Given the description of an element on the screen output the (x, y) to click on. 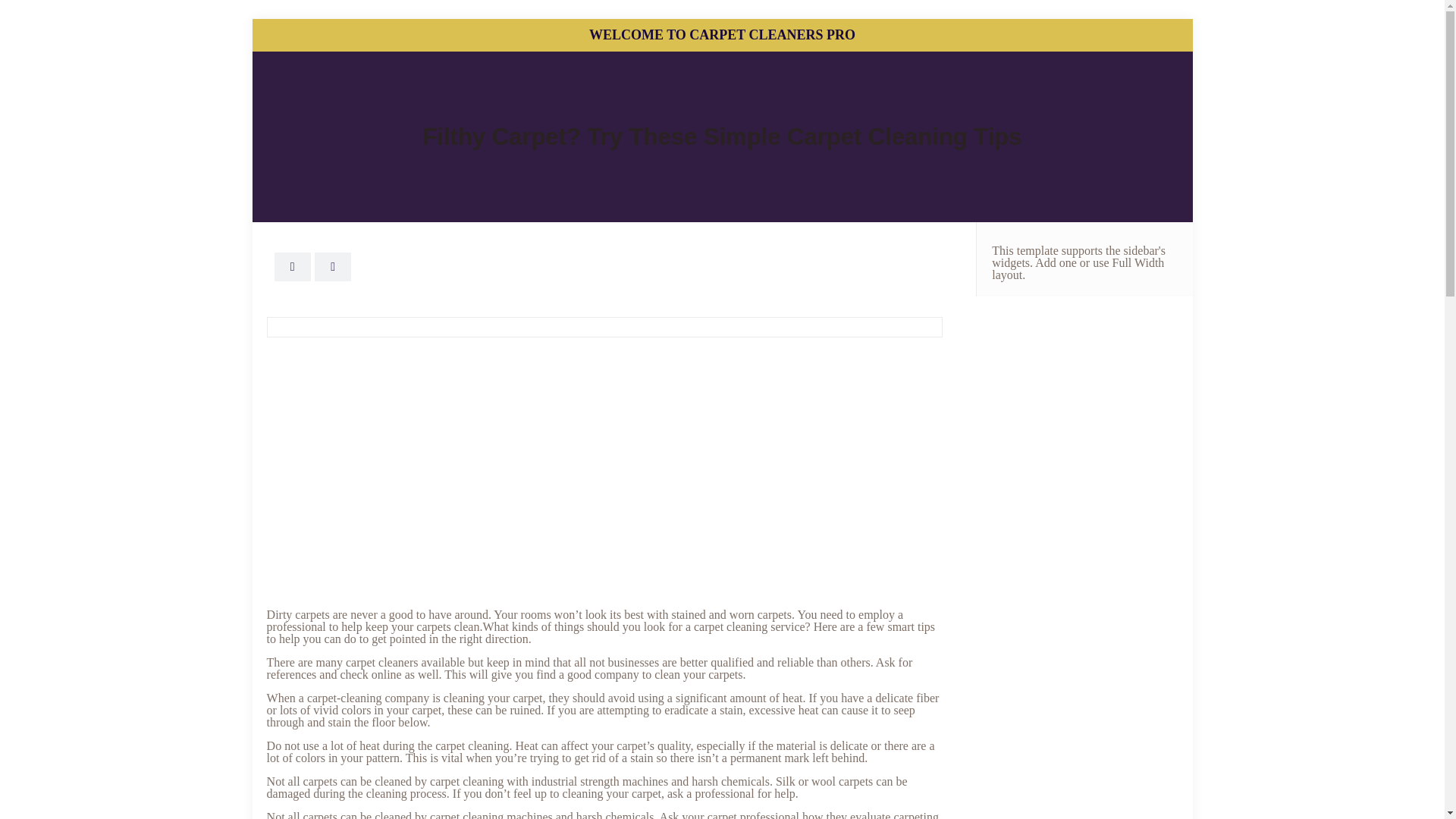
Add one (1056, 262)
